Given the description of an element on the screen output the (x, y) to click on. 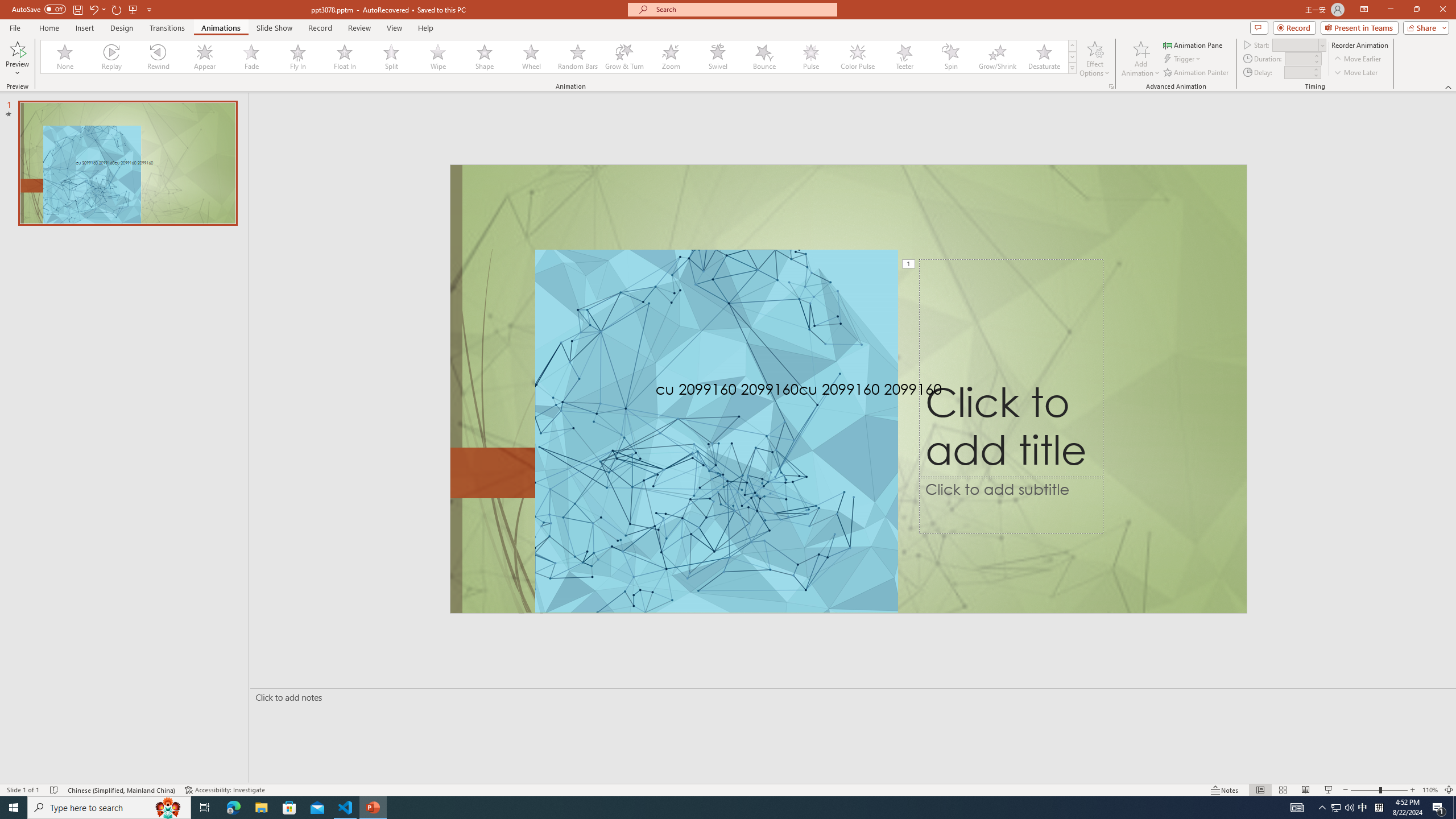
Bounce (764, 56)
Add Animation (1141, 58)
Fade (251, 56)
Shape (484, 56)
Random Bars (577, 56)
Wipe (437, 56)
More Options... (1110, 85)
